Given the description of an element on the screen output the (x, y) to click on. 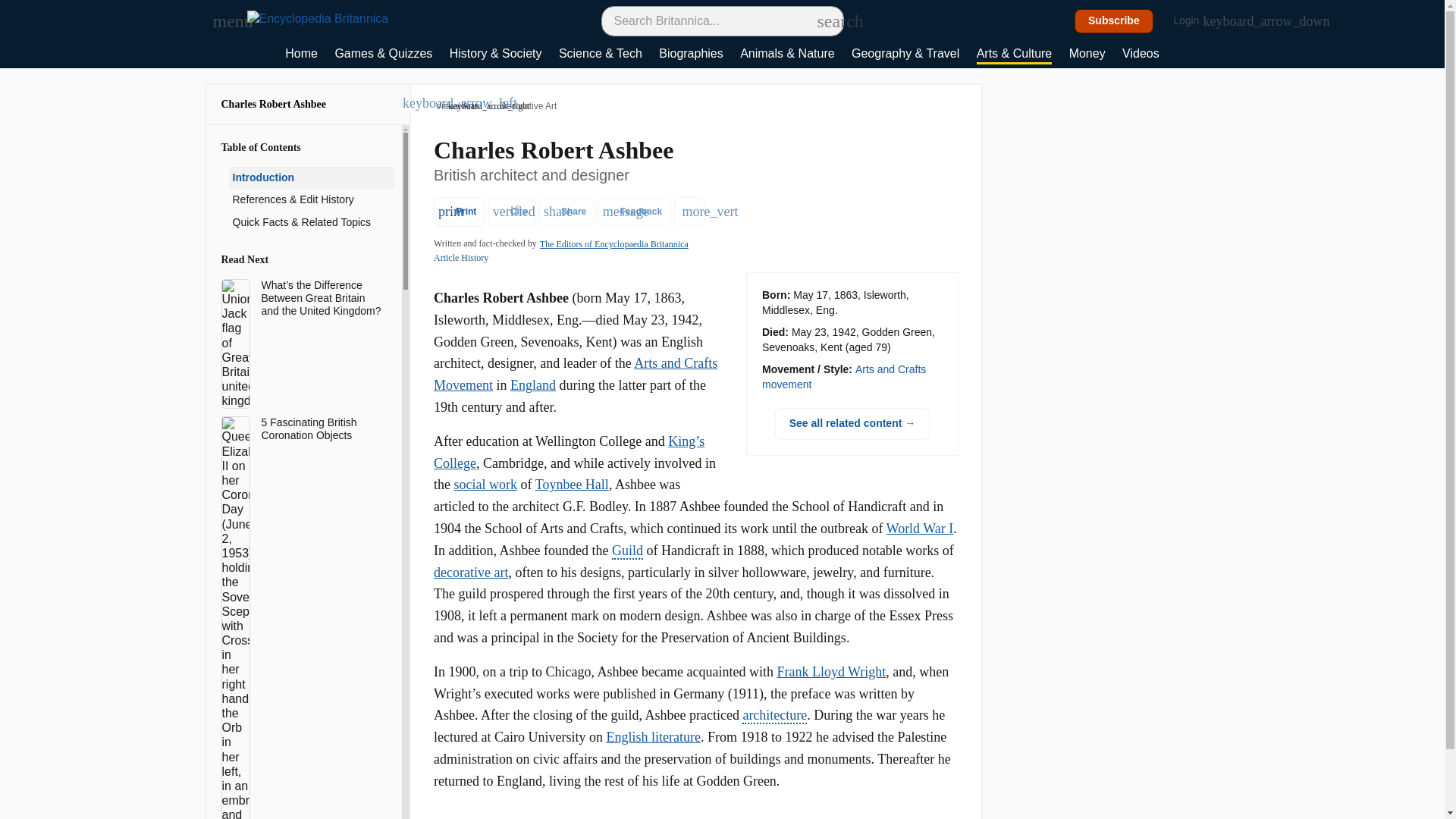
Click here to search (825, 20)
Subscribe (1114, 21)
Login (1194, 20)
